Given the description of an element on the screen output the (x, y) to click on. 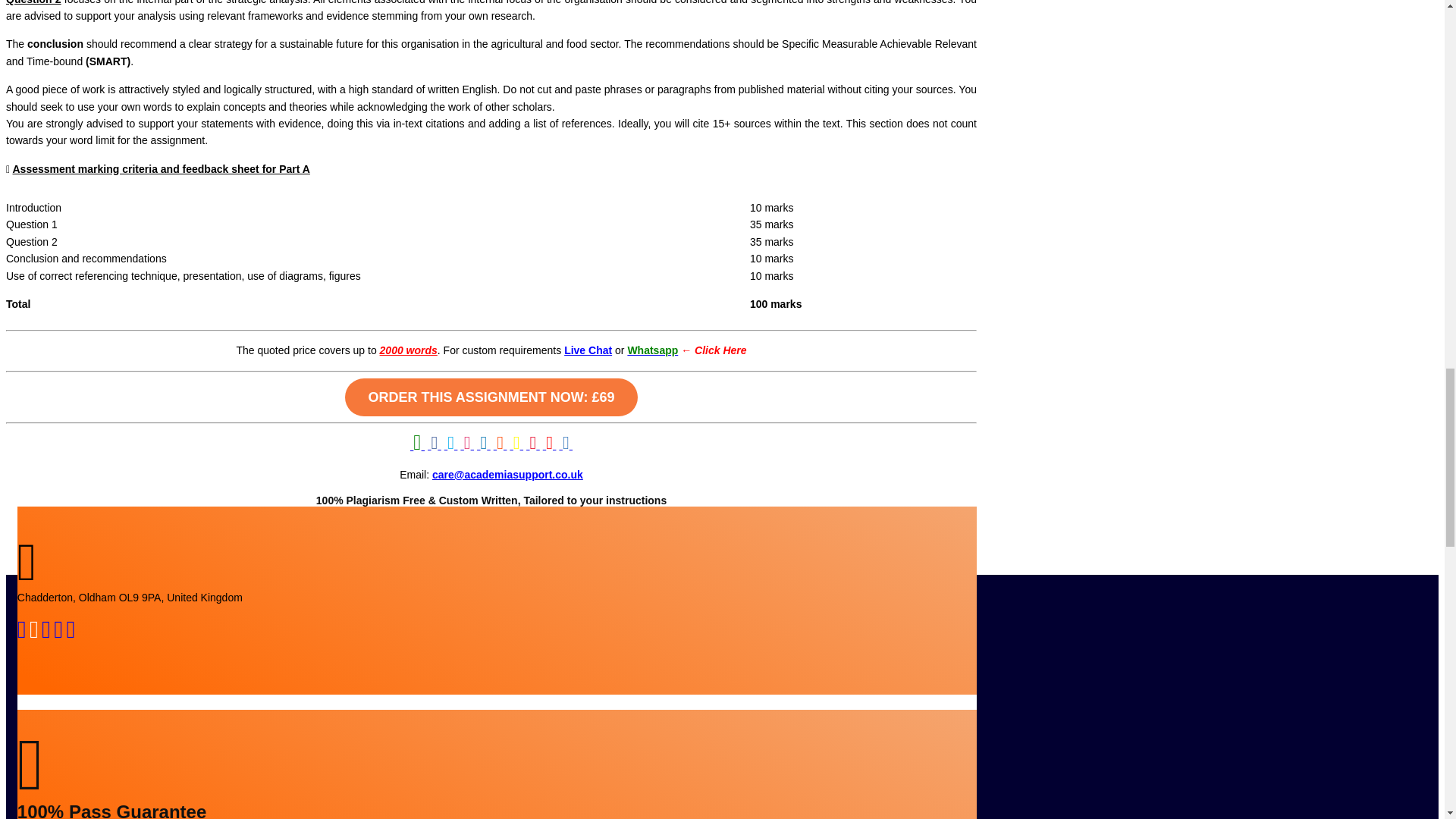
Whatsapp (652, 349)
Live Chat (587, 349)
open chat (34, 633)
